Given the description of an element on the screen output the (x, y) to click on. 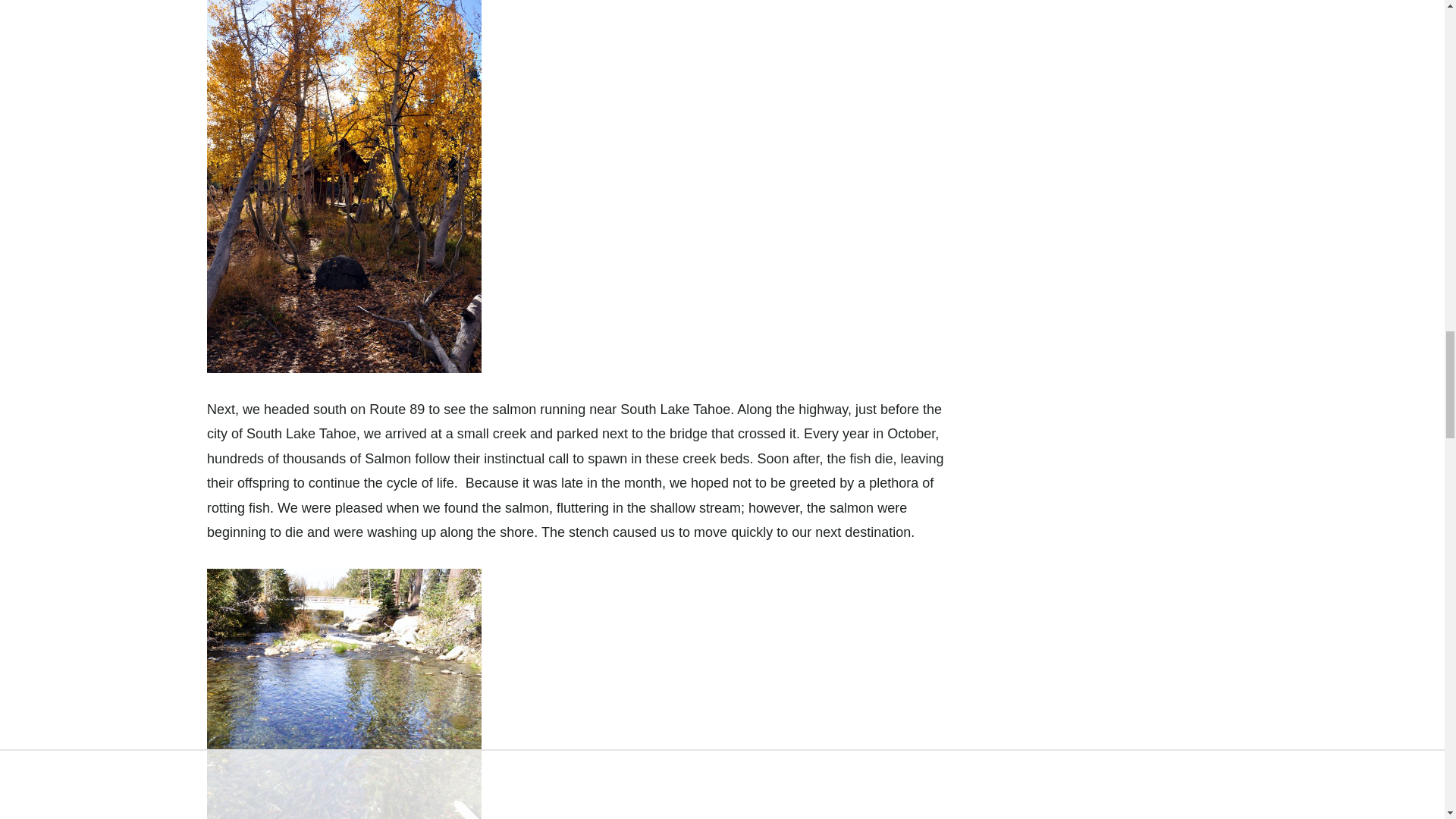
Salmon in Lake Tahoe (343, 693)
